Given the description of an element on the screen output the (x, y) to click on. 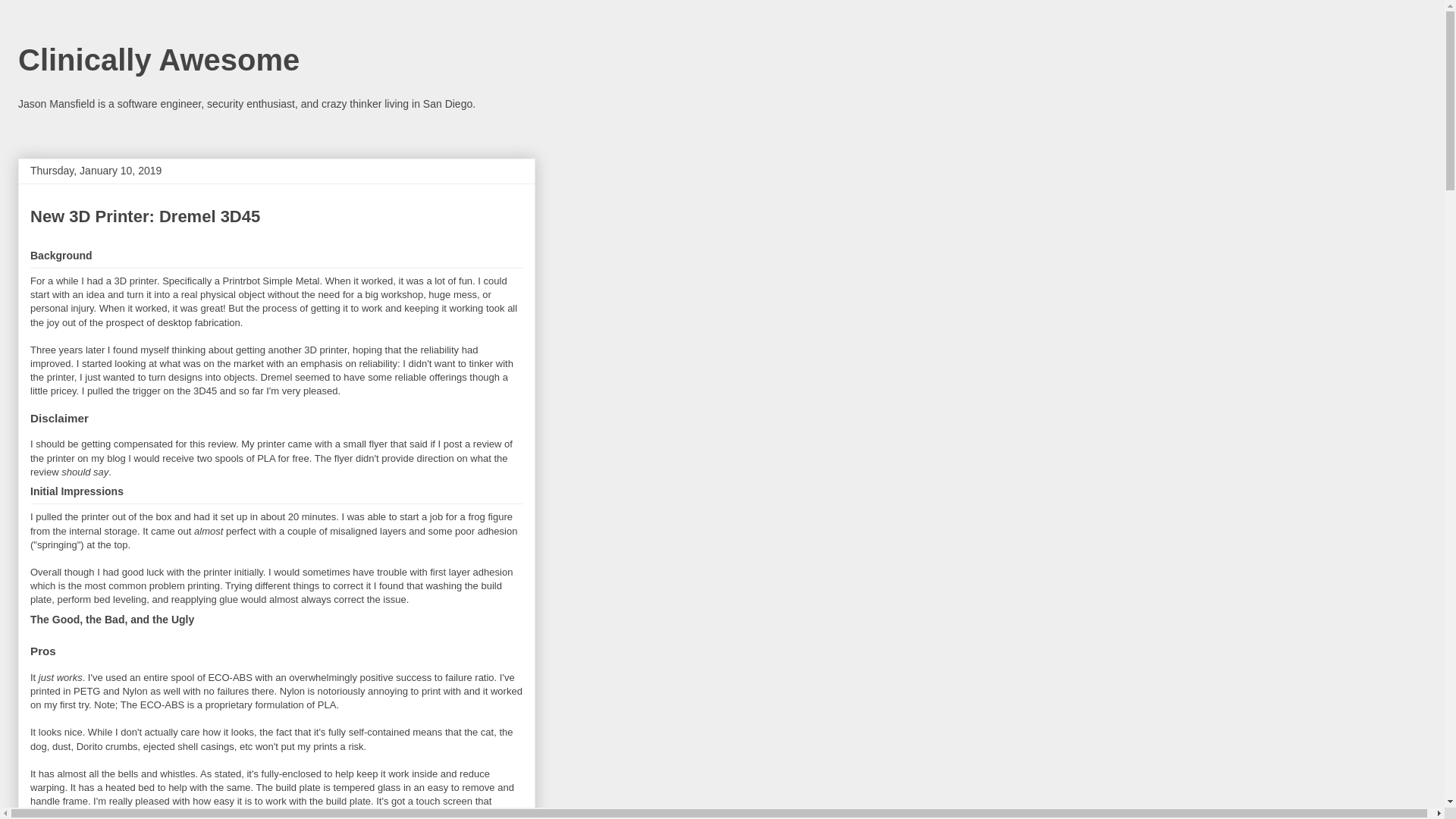
Clinically Awesome (158, 59)
